Given the description of an element on the screen output the (x, y) to click on. 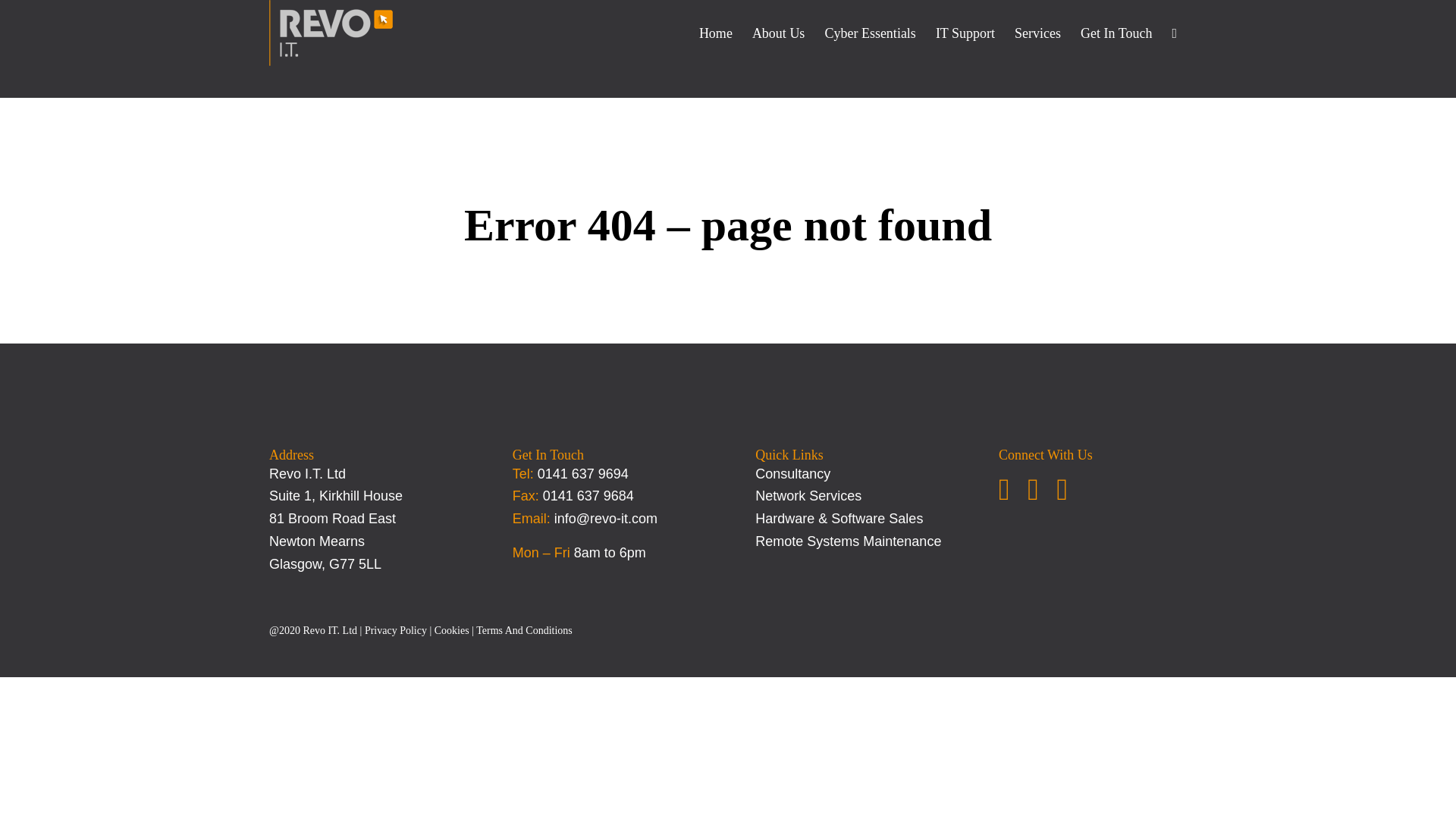
About Us (778, 33)
Cookies (450, 630)
Cyber Essentials (868, 33)
Services (1037, 33)
0141 637 9694 (582, 473)
Remote Systems Maintenance (847, 540)
Get In Touch (1115, 33)
IT Support (965, 33)
Terms And Conditions (524, 630)
Consultancy (792, 473)
